Given the description of an element on the screen output the (x, y) to click on. 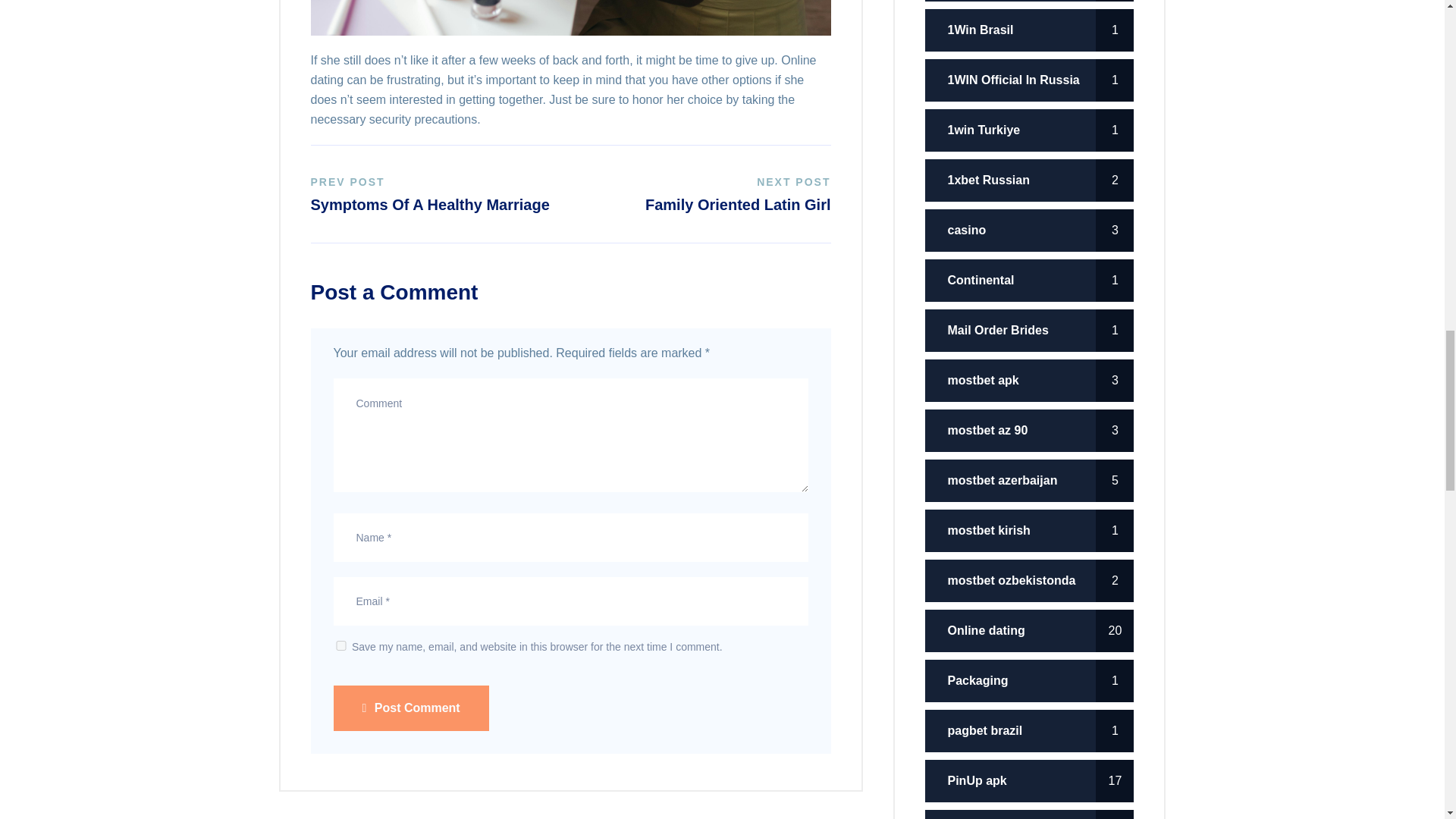
Post Comment (435, 192)
yes (411, 708)
